Given the description of an element on the screen output the (x, y) to click on. 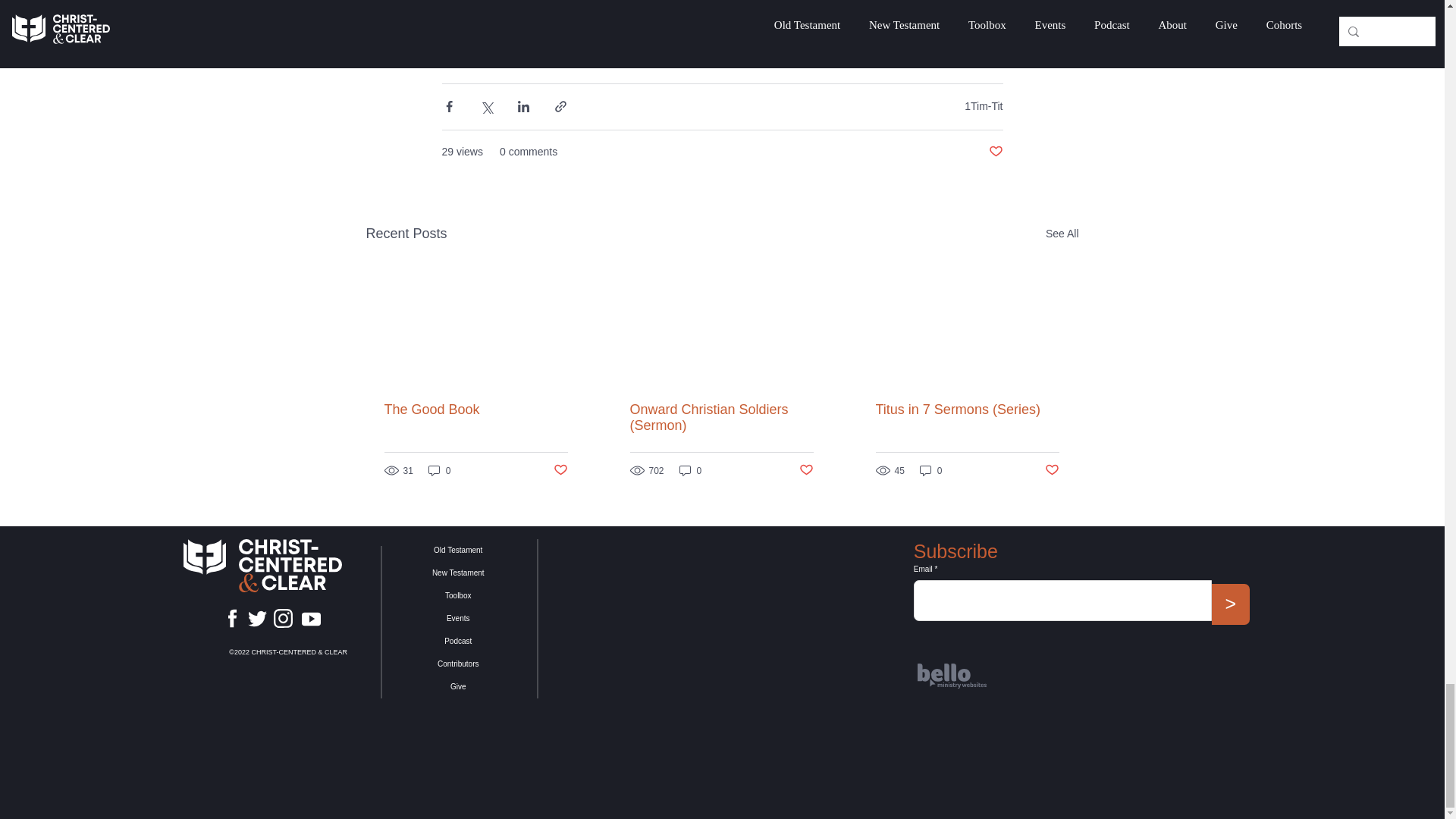
The Good Book (475, 409)
Post not marked as liked (995, 151)
1Tim-Tit (983, 105)
See All (1061, 233)
